Given the description of an element on the screen output the (x, y) to click on. 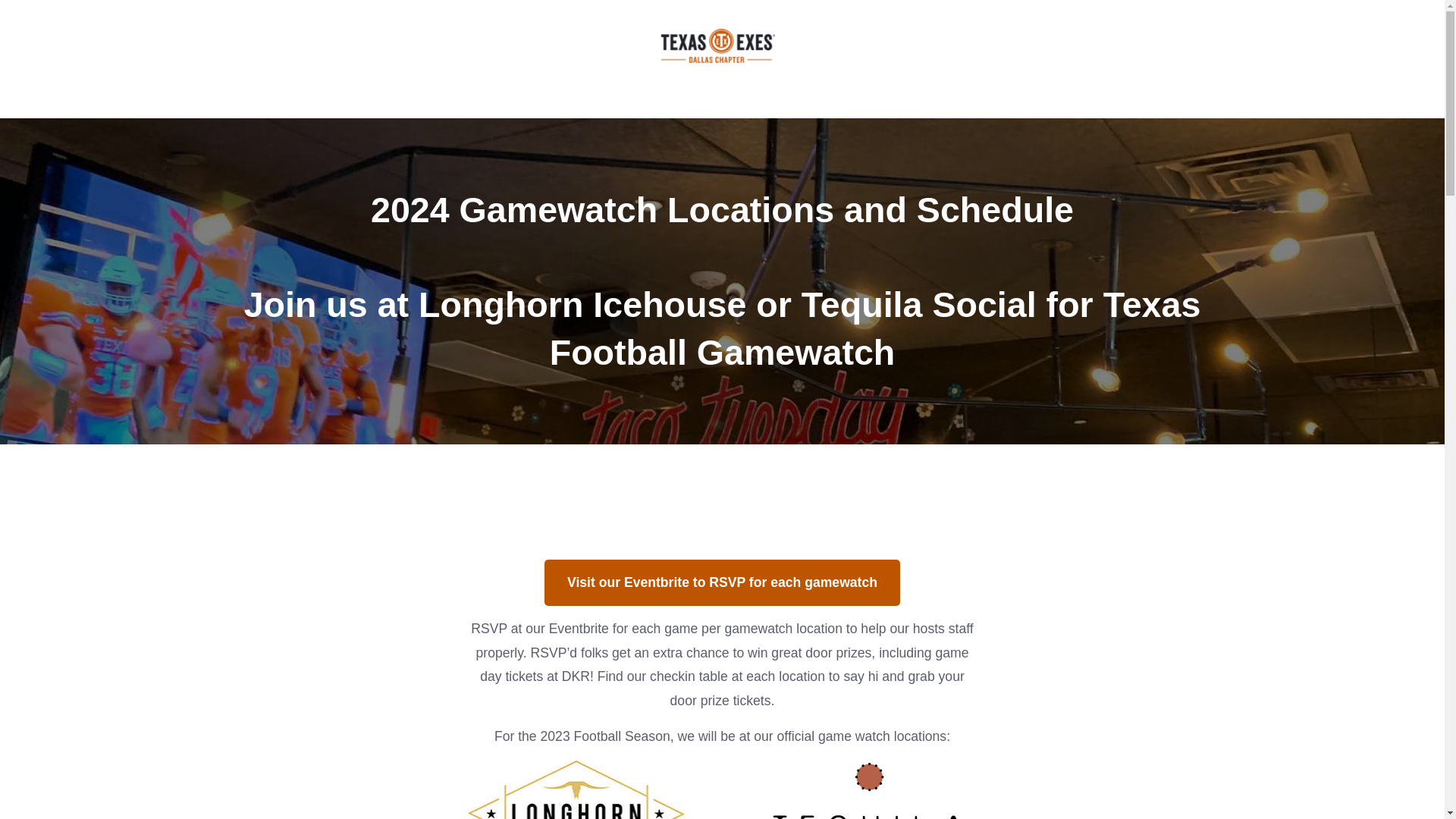
Search Toggle (70, 58)
Menu (1372, 58)
Visit our Eventbrite to RSVP for each gamewatch (721, 582)
